Given the description of an element on the screen output the (x, y) to click on. 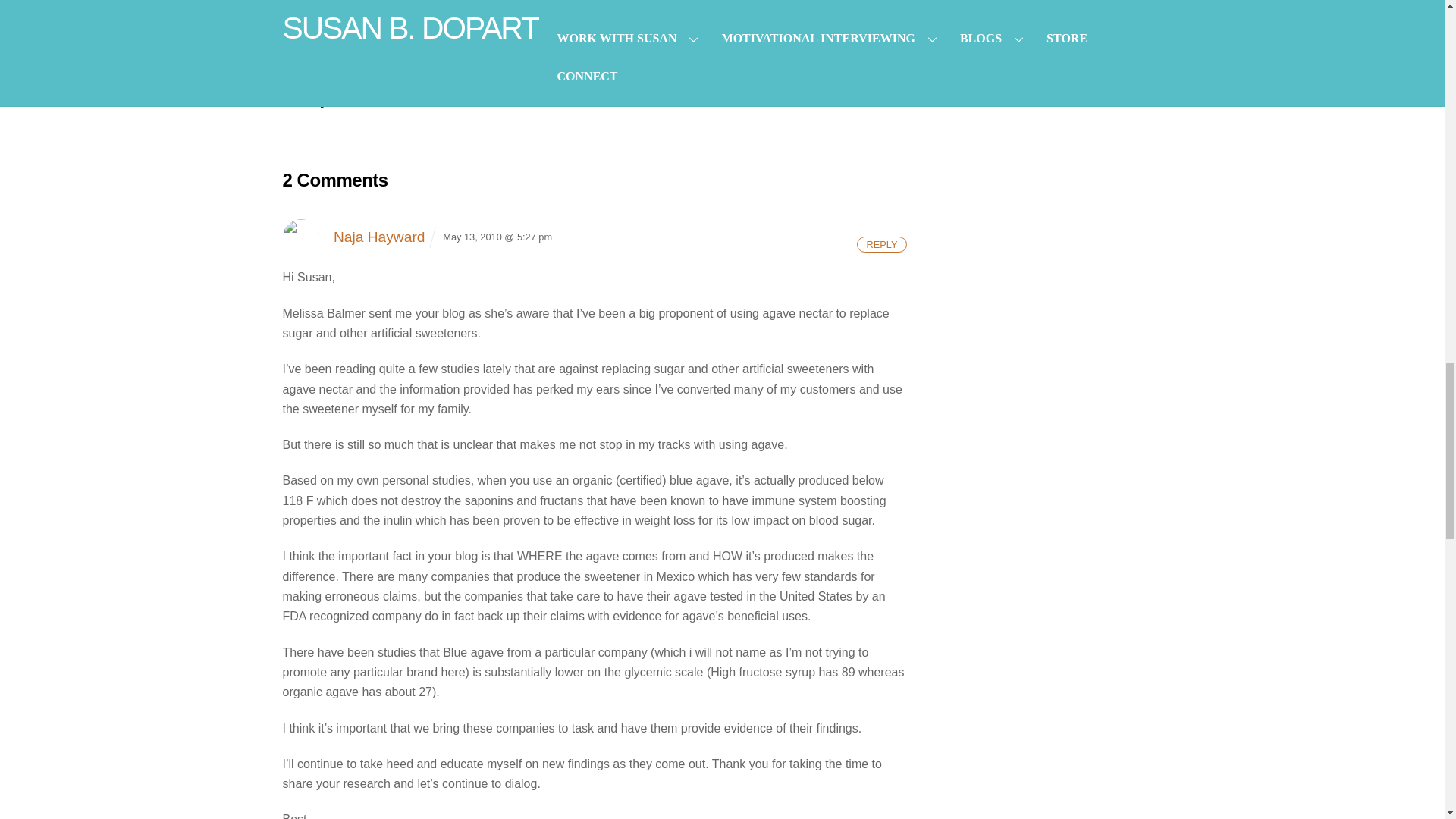
HEALTHY AGING (432, 8)
HEALTH AND LIFESTYLE (336, 8)
INFLAMMATION (316, 22)
LIFE STYLE SOLUTIONS (409, 22)
